Given the description of an element on the screen output the (x, y) to click on. 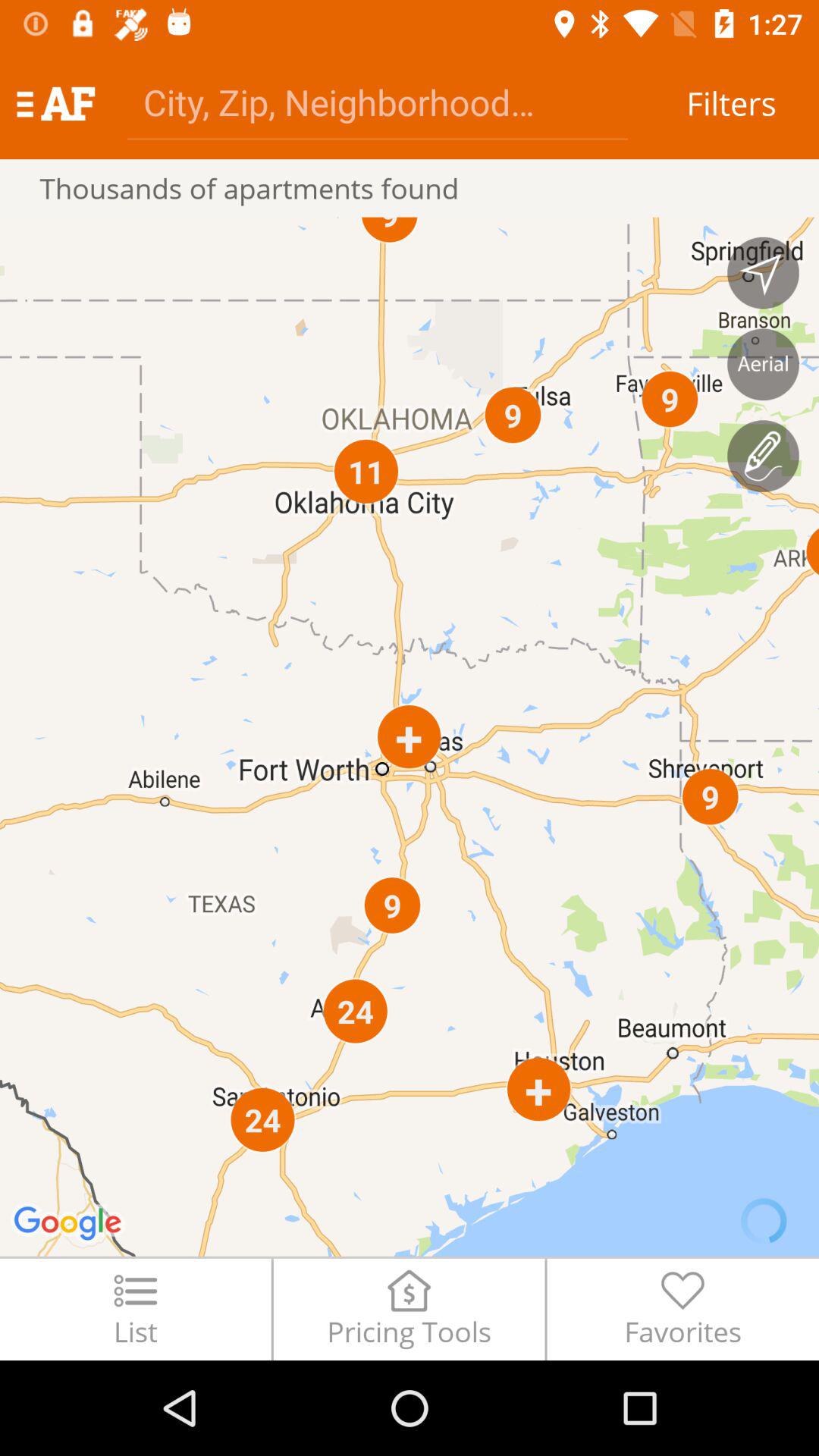
tap the icon to the left of filters icon (377, 102)
